Given the description of an element on the screen output the (x, y) to click on. 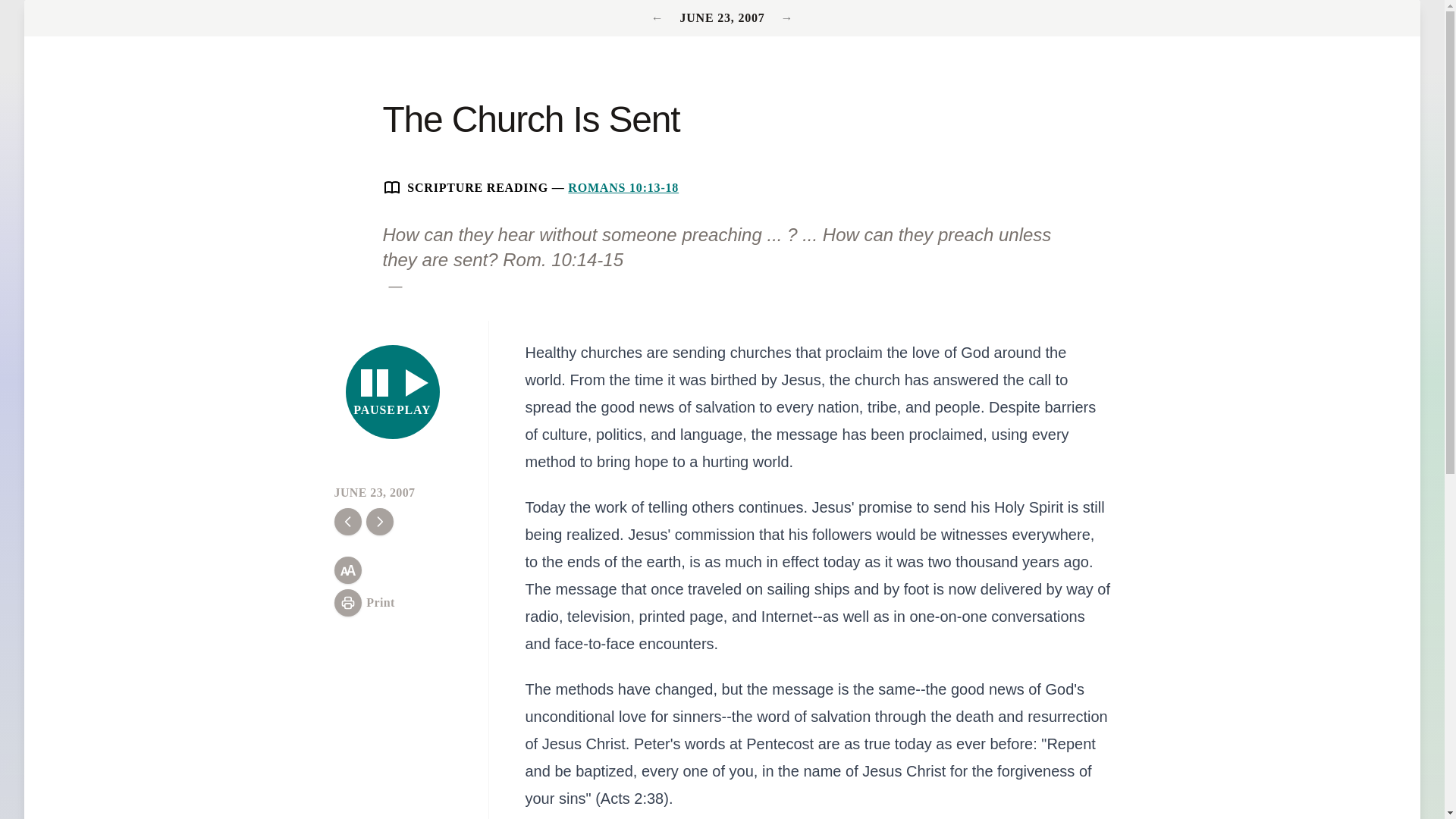
Print (363, 602)
Previous Devotion: June 22, 2007 (659, 17)
Previous Devotion: June 23, 2007 (786, 17)
ROMANS 10:13-18 (392, 391)
